Given the description of an element on the screen output the (x, y) to click on. 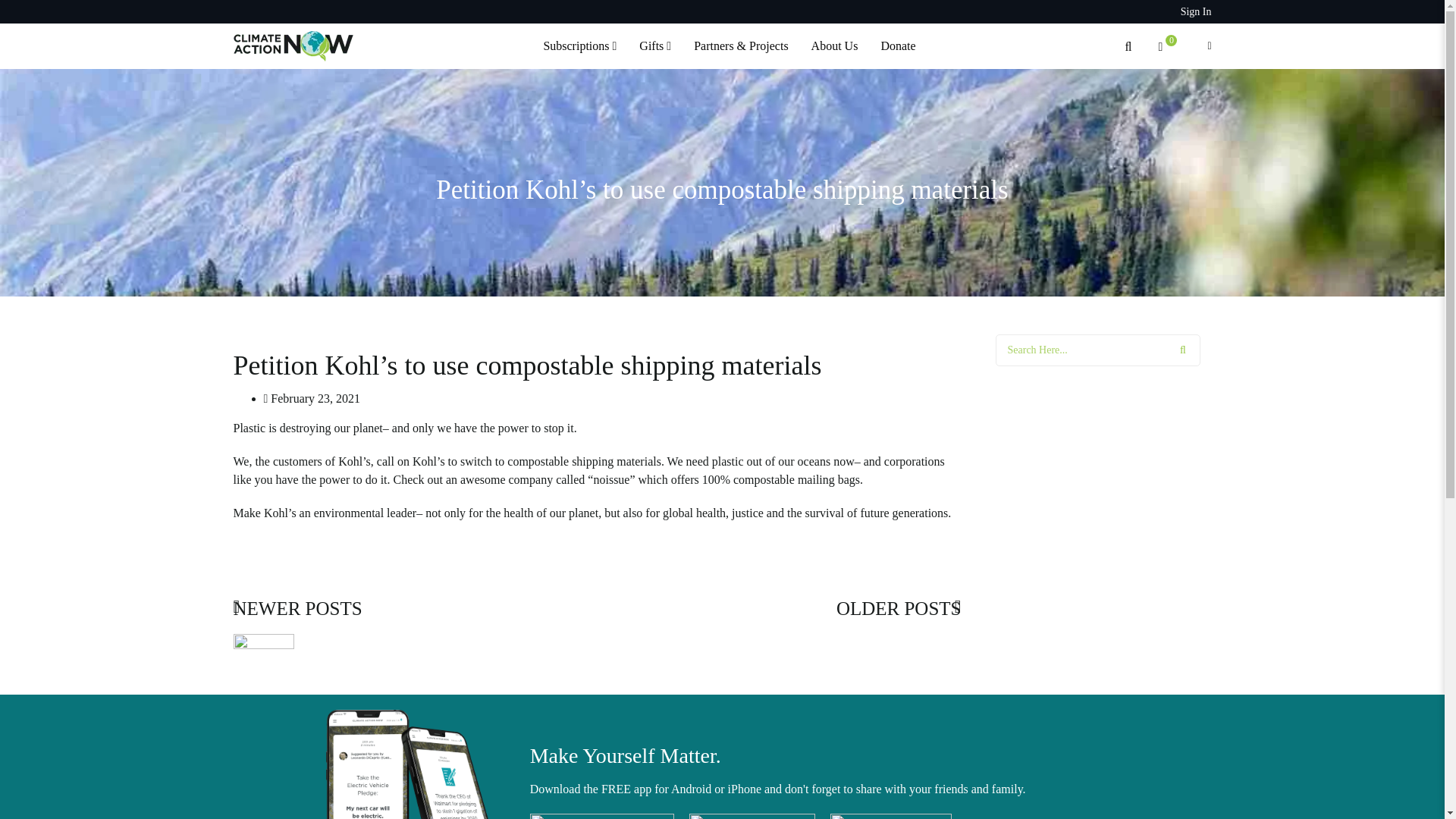
Sign In (1195, 11)
Climate Action Now - Climate action (292, 43)
About Us (834, 45)
Gifts (654, 45)
Donate (897, 45)
final-bottom (416, 764)
Subscriptions (579, 45)
